Given the description of an element on the screen output the (x, y) to click on. 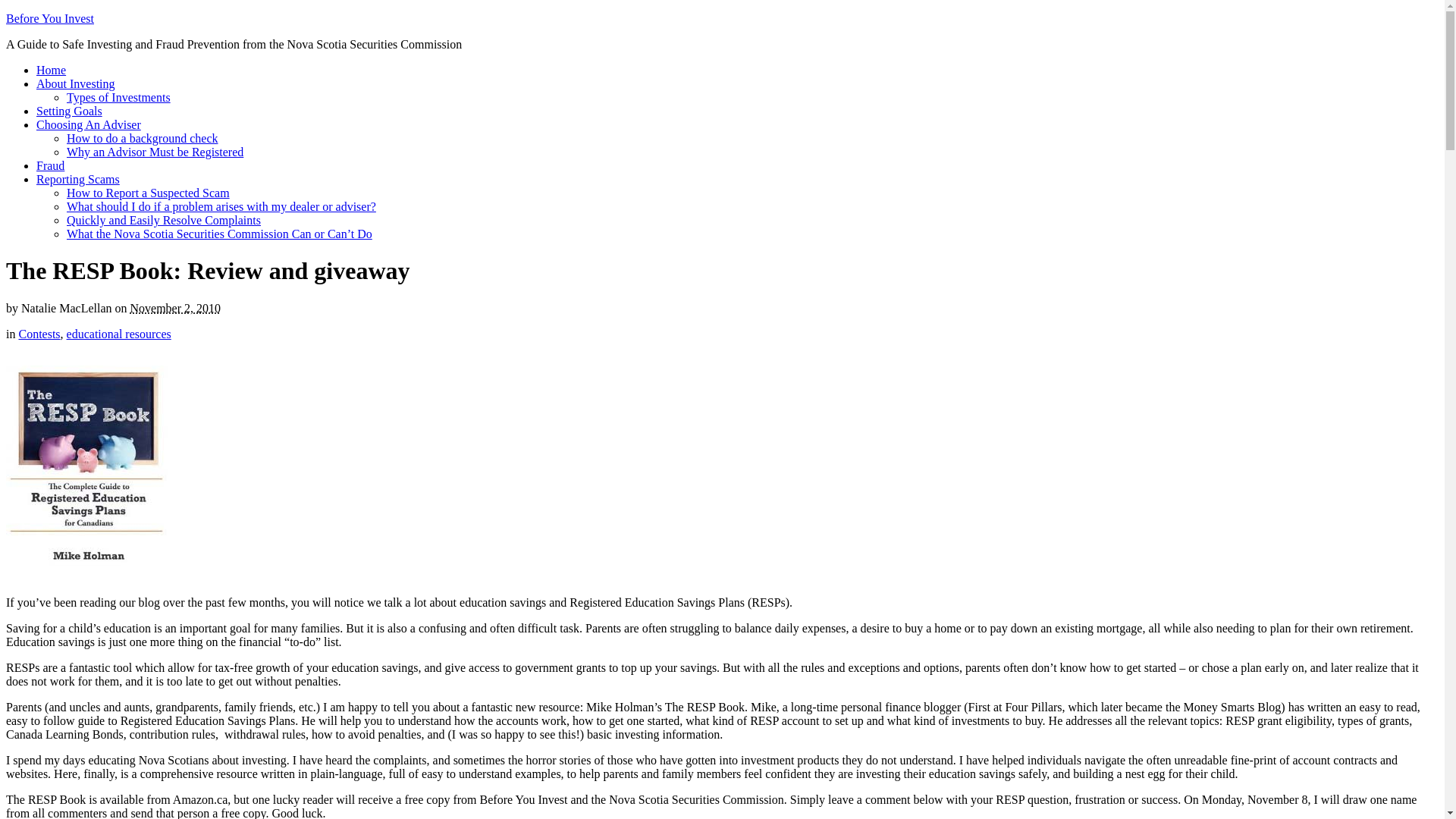
About Investing Element type: text (75, 83)
Reporting Scams Element type: text (77, 178)
Why an Advisor Must be Registered Element type: text (154, 151)
educational resources Element type: text (118, 333)
Choosing An Adviser Element type: text (88, 124)
Fraud Element type: text (50, 165)
How to Report a Suspected Scam Element type: text (147, 192)
Quickly and Easily Resolve Complaints Element type: text (163, 219)
How to do a background check Element type: text (142, 137)
Contests Element type: text (38, 333)
Before You Invest Element type: text (50, 18)
Types of Investments Element type: text (118, 97)
Home Element type: text (50, 69)
Setting Goals Element type: text (69, 110)
